Given the description of an element on the screen output the (x, y) to click on. 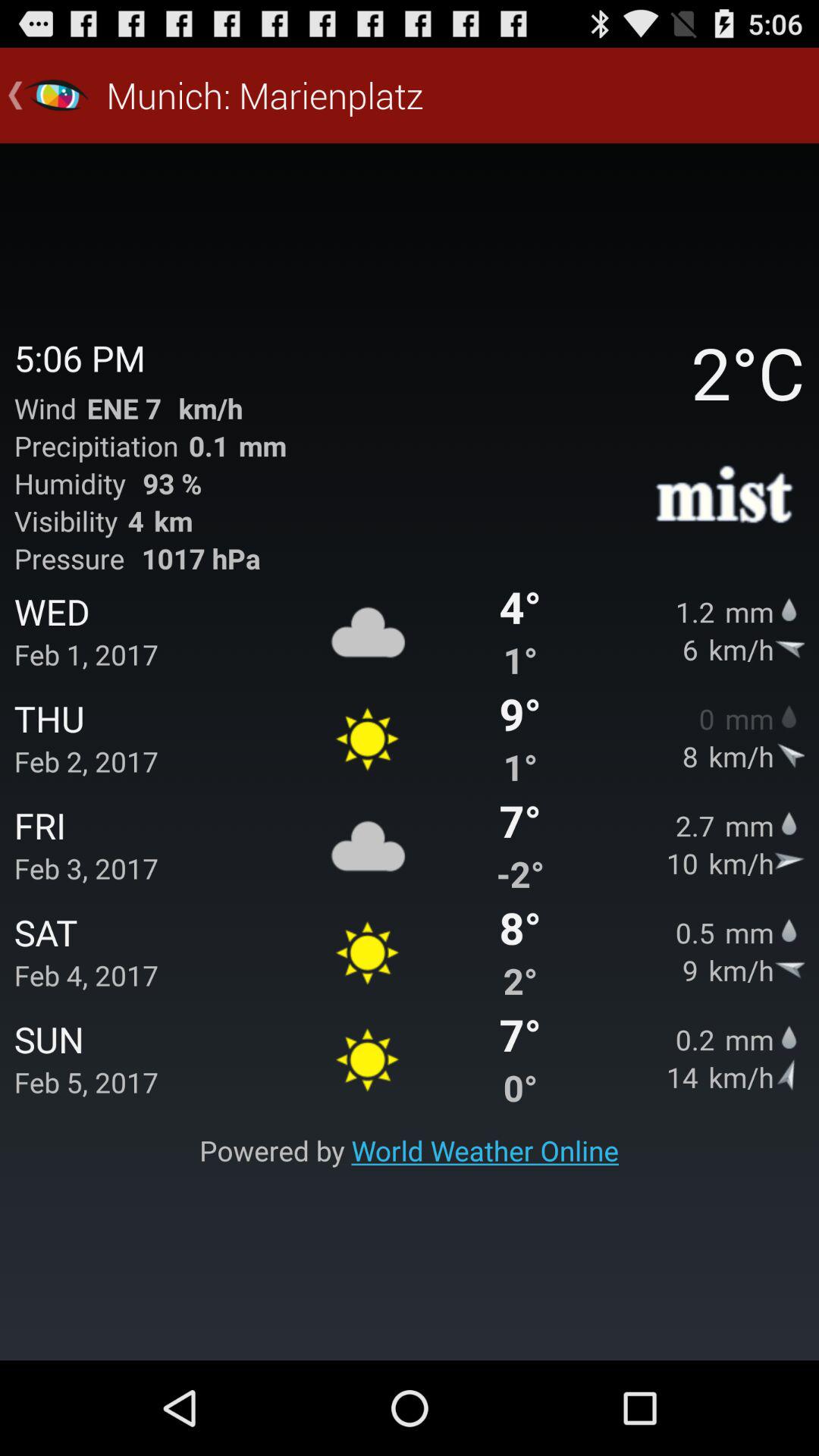
select the text below feb 5 2017 (409, 1150)
select the text which is above 12 mm (724, 496)
select the icon which is next to the 12 mm (788, 608)
select the icon which is next to the 27 mm (788, 822)
select the icon which is next to the feb 3 2017 (368, 844)
